Given the description of an element on the screen output the (x, y) to click on. 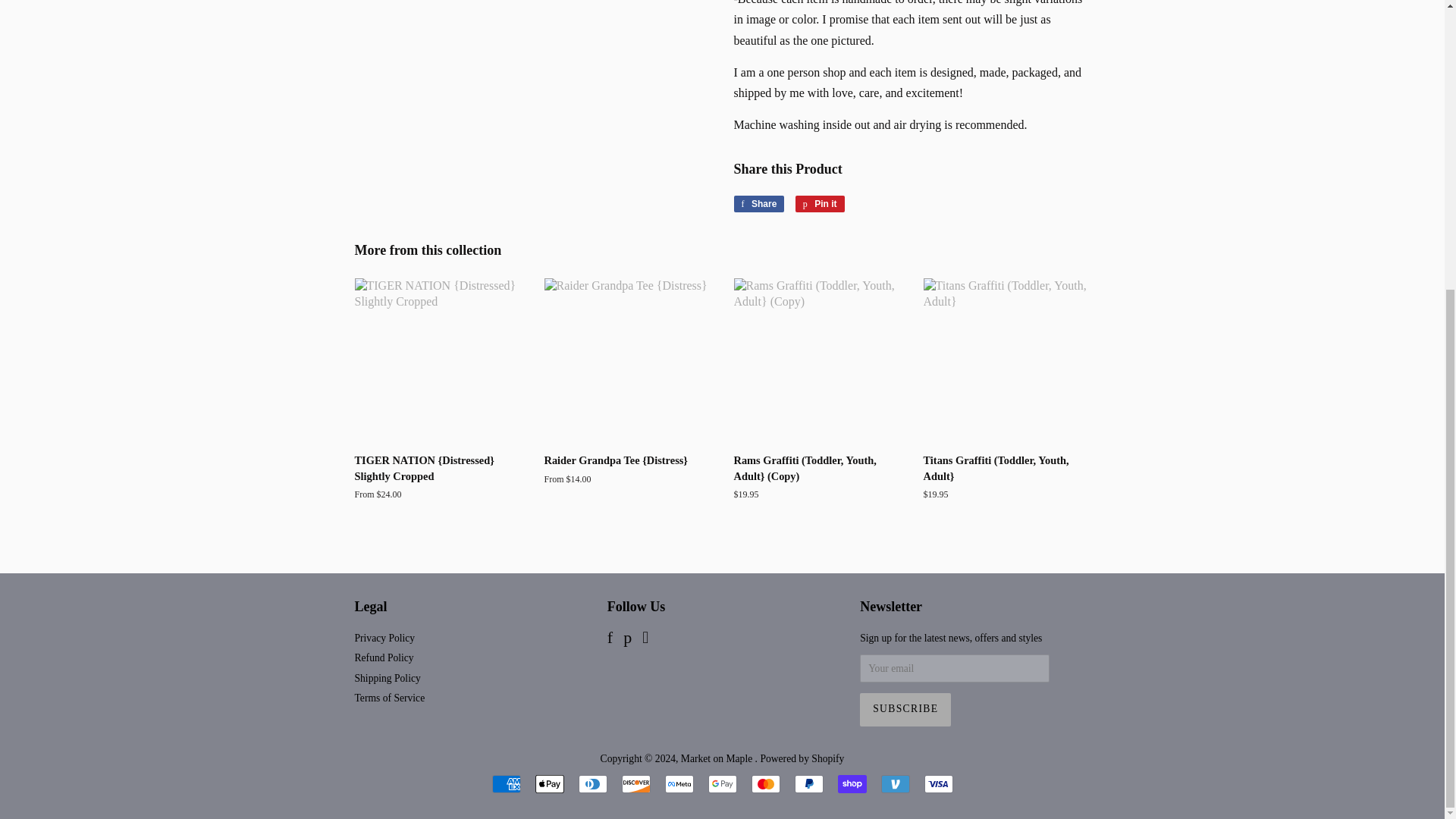
Subscribe (905, 709)
Pin on Pinterest (819, 203)
Terms of Service (390, 697)
American Express (505, 783)
Share on Facebook (758, 203)
Shipping Policy (387, 677)
Google Pay (721, 783)
Refund Policy (384, 657)
Apple Pay (549, 783)
Diners Club (592, 783)
Privacy Policy (384, 637)
Venmo (895, 783)
Meta Pay (678, 783)
Shop Pay (851, 783)
